Given the description of an element on the screen output the (x, y) to click on. 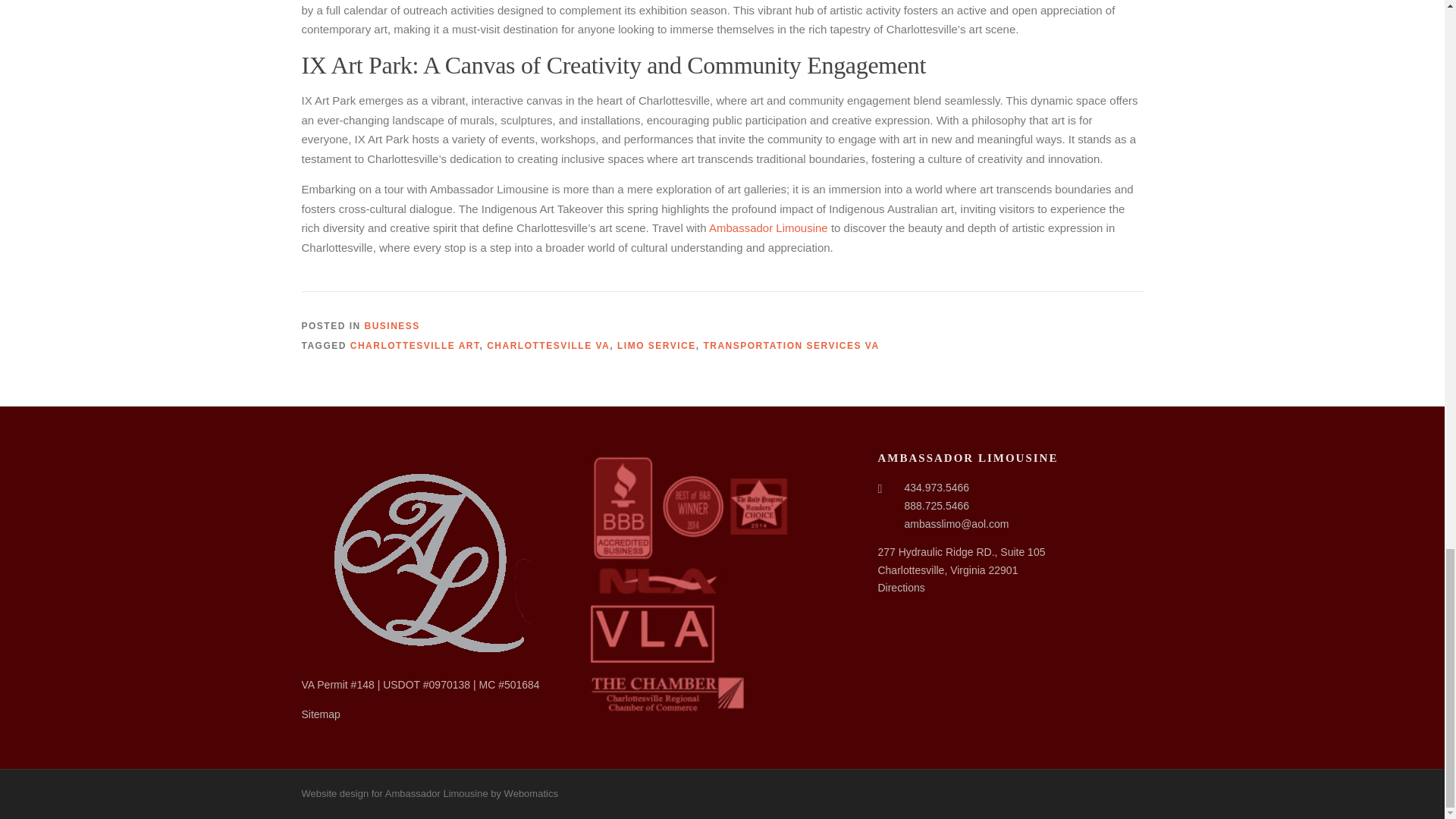
BUSINESS (392, 326)
Sitemap (320, 714)
CHARLOTTESVILLE ART (415, 345)
Ambassador Limousine (768, 227)
CHARLOTTESVILLE VA (548, 345)
LIMO SERVICE (656, 345)
Directions (900, 587)
434.973.5466 (936, 487)
888.725.5466 (936, 505)
TRANSPORTATION SERVICES VA (791, 345)
